Given the description of an element on the screen output the (x, y) to click on. 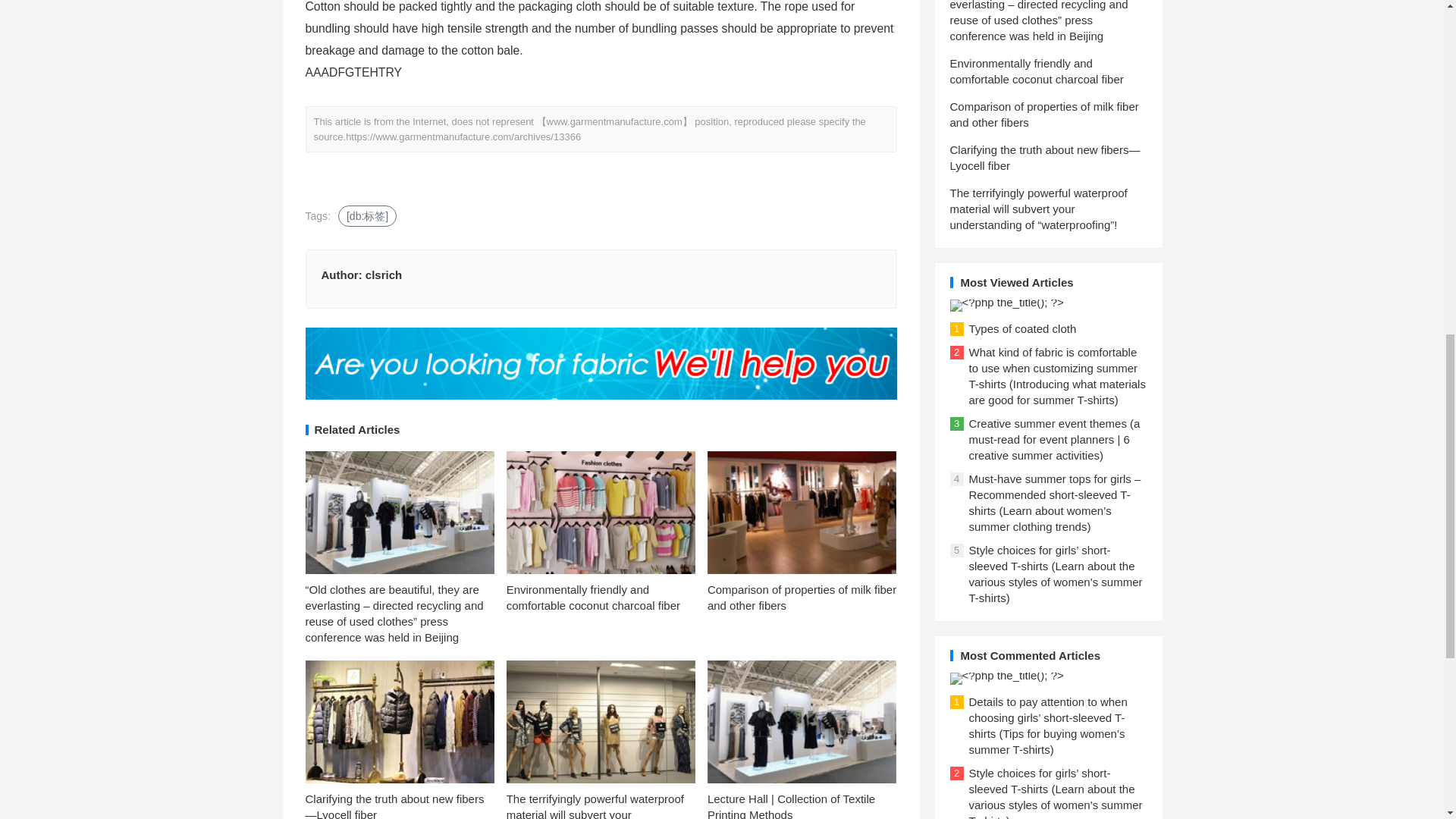
clsrich (383, 274)
Comparison of properties of milk fiber and other fibers (801, 597)
